Given the description of an element on the screen output the (x, y) to click on. 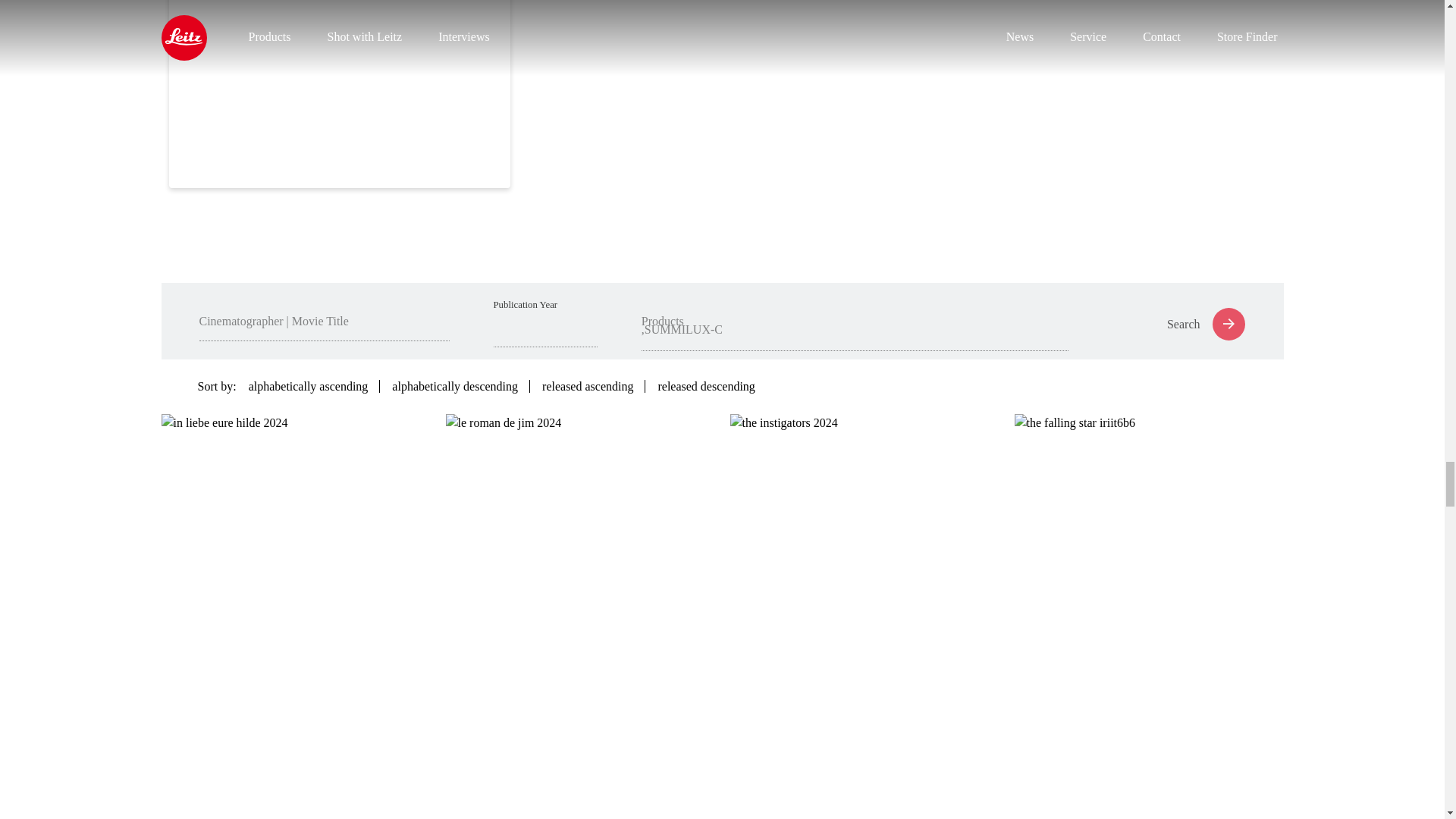
,SUMMILUX-C (855, 326)
